Given the description of an element on the screen output the (x, y) to click on. 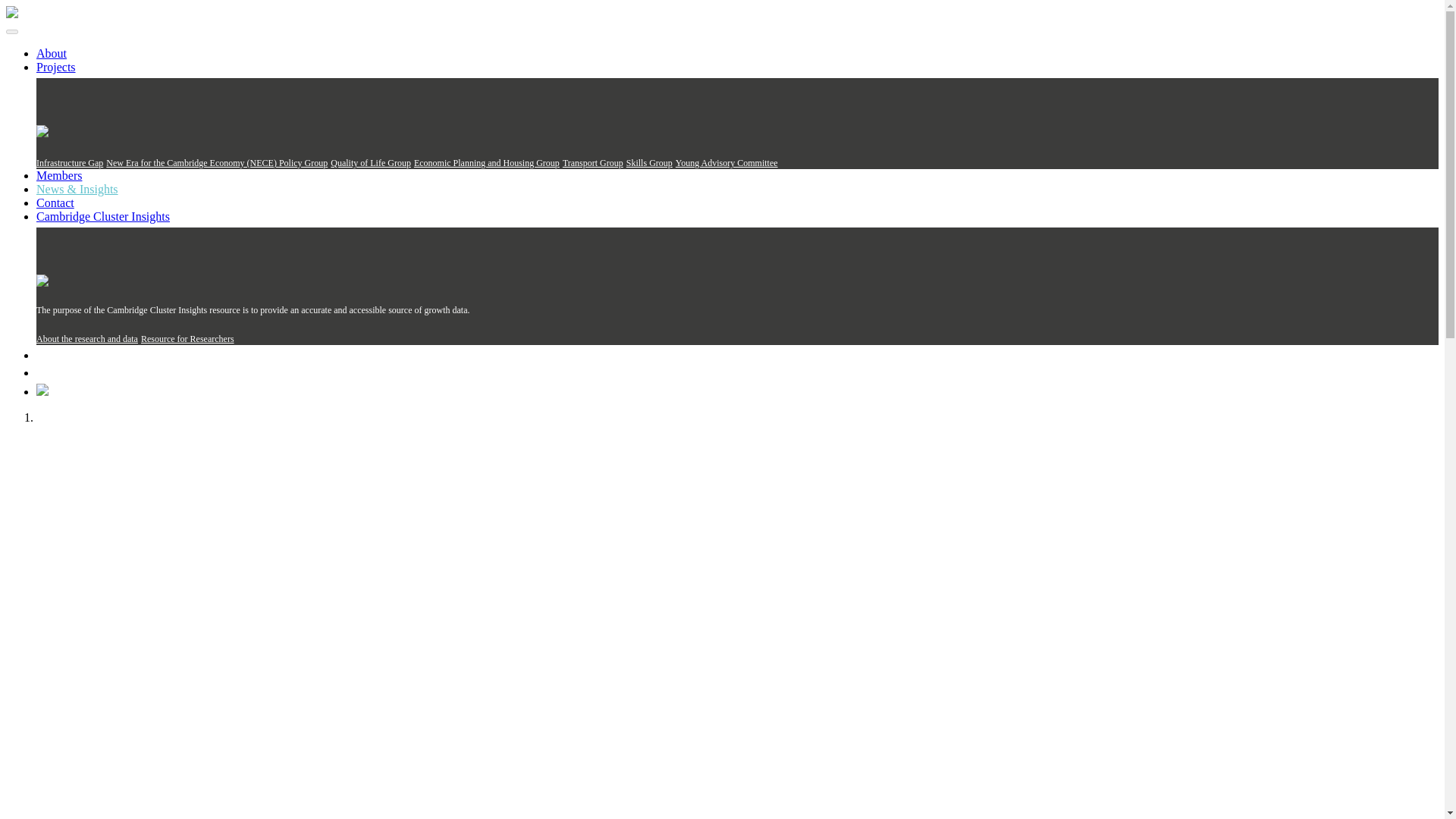
Members (58, 174)
Skills Group (649, 163)
About (51, 52)
Quality of Life Group (370, 163)
Young Advisory Committee (726, 163)
Resource for Researchers (187, 338)
Projects (55, 66)
Transport Group (592, 163)
Contact (55, 202)
About the research and data (87, 338)
Cambridge Cluster Insights (103, 215)
Infrastructure Gap (69, 163)
Economic Planning and Housing Group (486, 163)
Policy Group (303, 163)
